Given the description of an element on the screen output the (x, y) to click on. 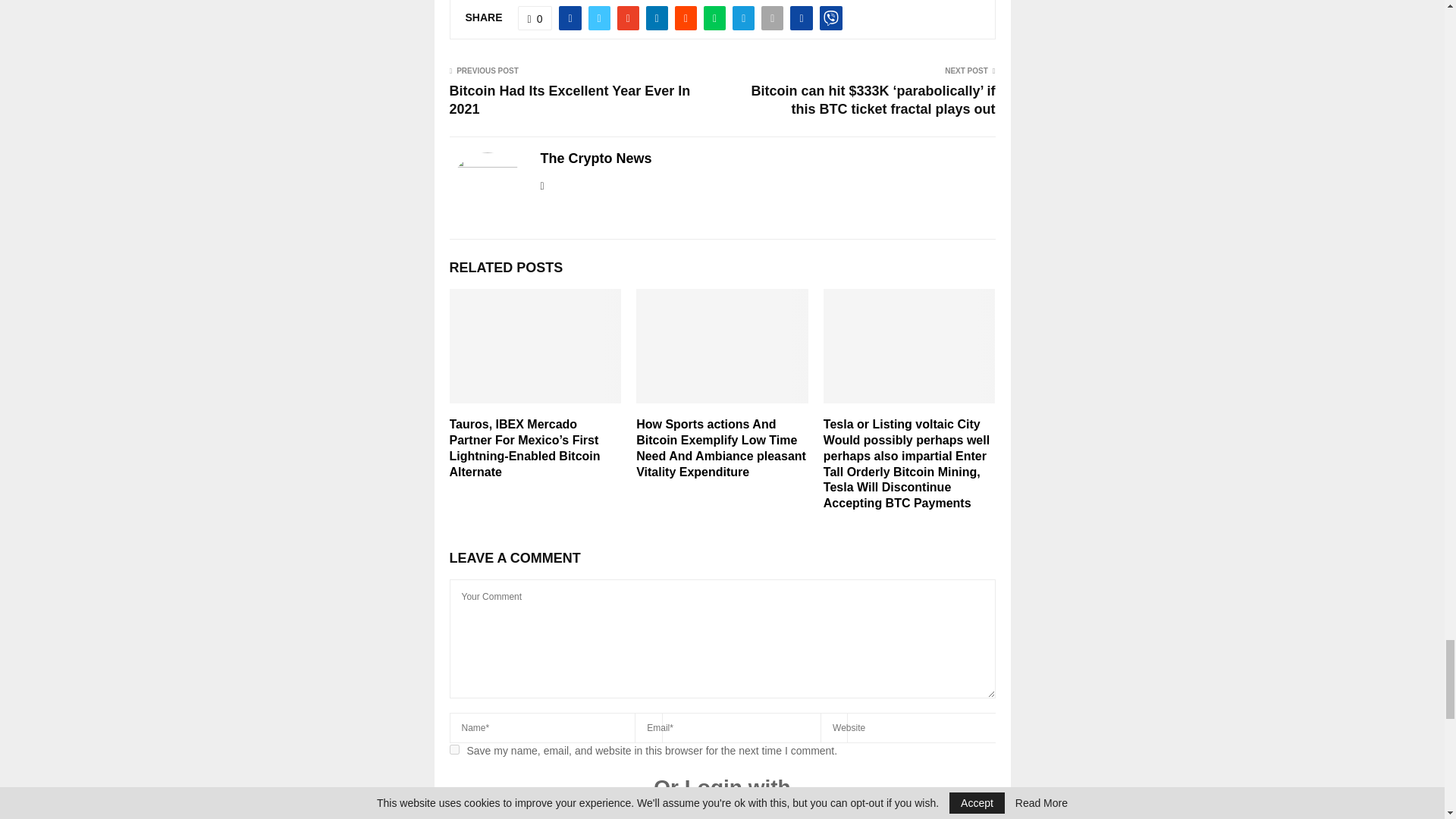
yes (453, 749)
